Given the description of an element on the screen output the (x, y) to click on. 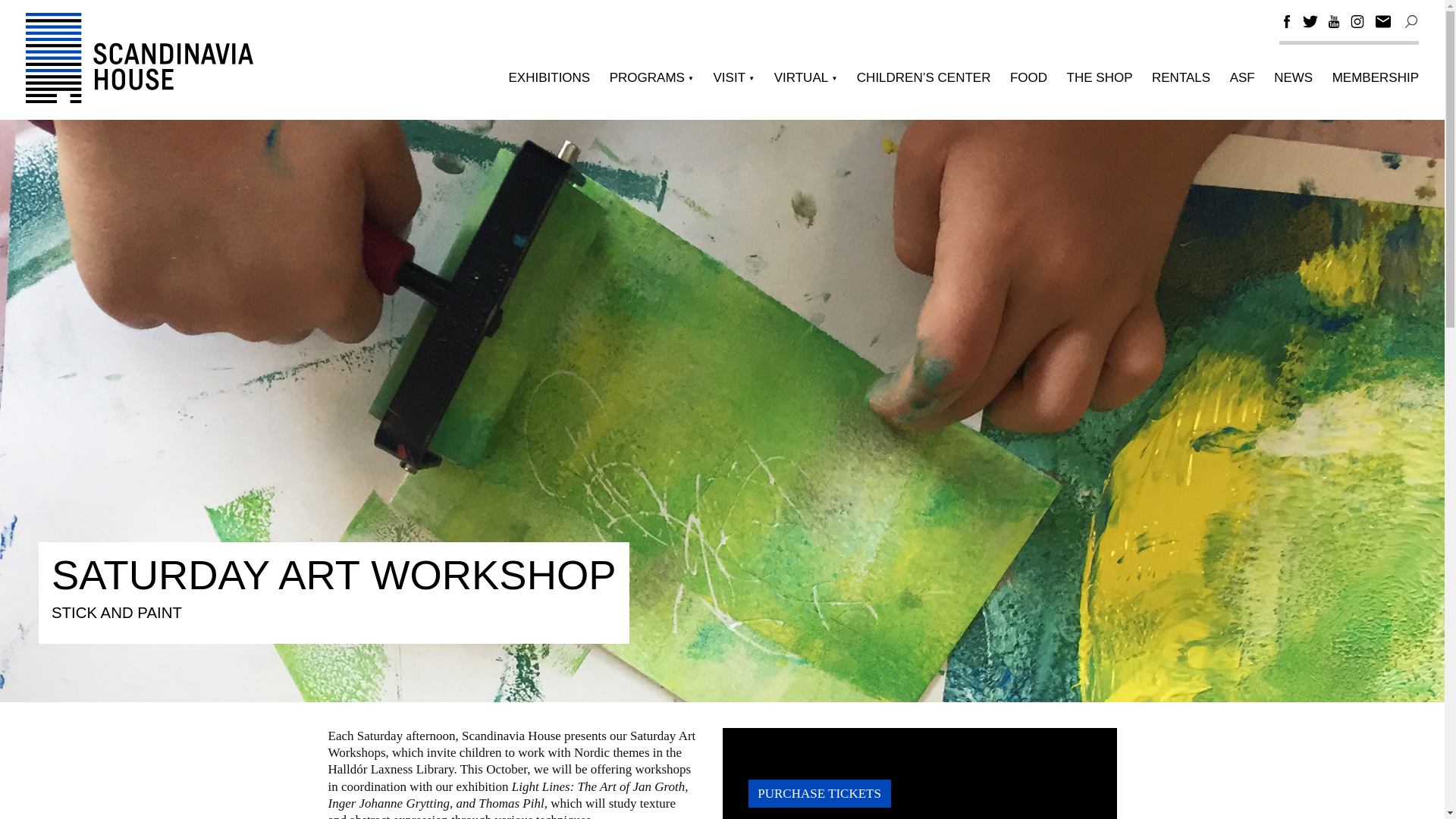
Facebook (1286, 21)
Twitter (1310, 23)
Logo - Scandinavia House (139, 98)
See Scandinavia House on Twitter (1310, 23)
Search (1410, 21)
See Scandinavia House on Youtube (1333, 23)
See Scandinavia House on Instagram (1357, 23)
See Scandinavia House on Facebook (1286, 23)
YouTube (1333, 21)
Facebook (1286, 23)
Twitter (1310, 21)
Newsletter (1382, 21)
Instagram (1357, 21)
Logo - Scandinavia House (139, 58)
YouTube (1333, 23)
